Given the description of an element on the screen output the (x, y) to click on. 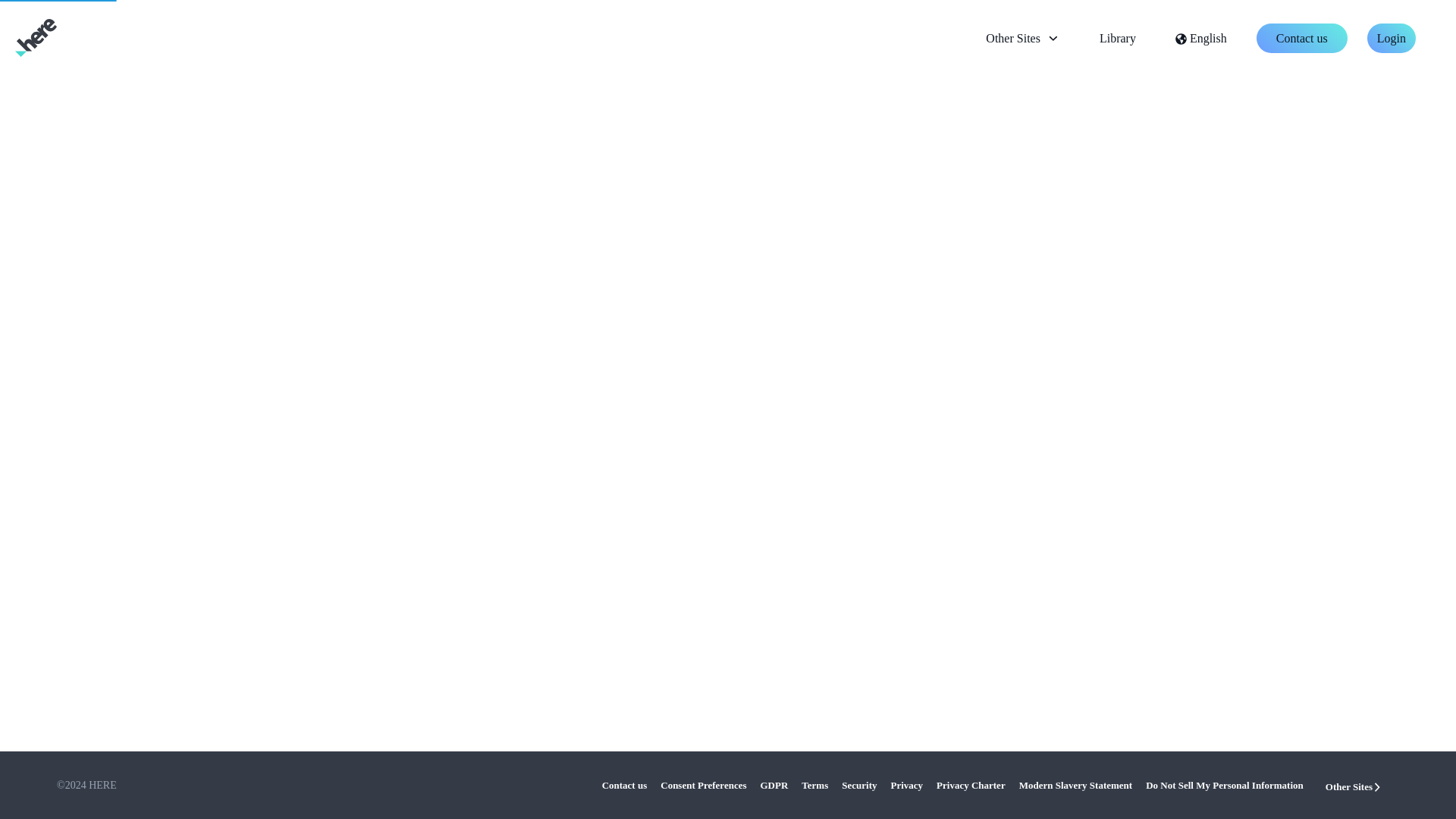
Other Sites (1022, 37)
Privacy (903, 785)
Contact us (624, 785)
Login (1391, 37)
Do Not Sell My Personal Information (1221, 785)
Library (1117, 37)
Security (855, 785)
Consent Preferences (699, 785)
English (1201, 37)
Terms (811, 785)
